Given the description of an element on the screen output the (x, y) to click on. 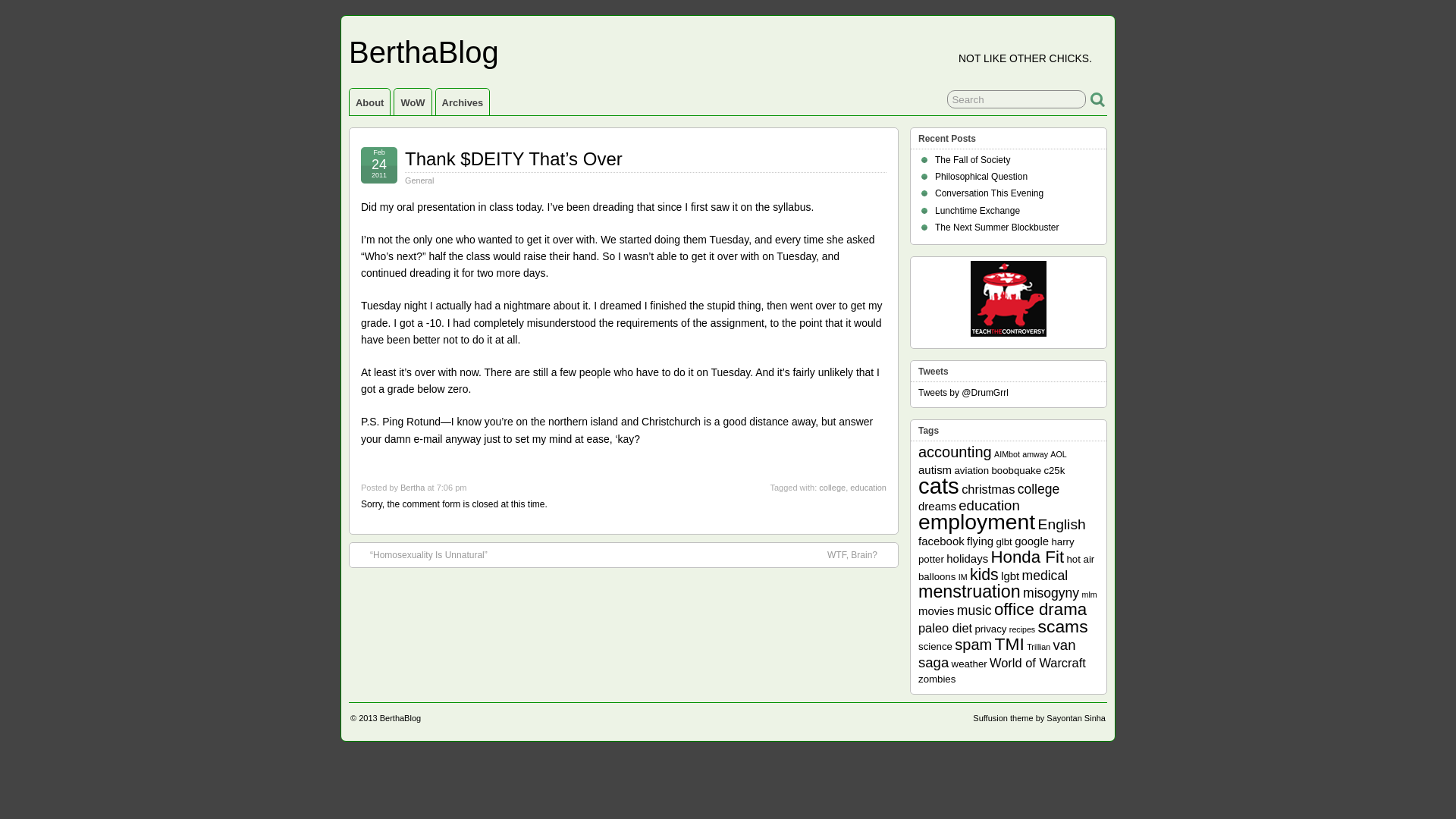
The Fall of Society (972, 159)
accounting (954, 451)
AIMbot (1007, 453)
autism (935, 468)
Honda Fit (1027, 556)
Lunchtime Exchange (977, 210)
employment (976, 521)
flying (979, 540)
college (1038, 488)
christmas (987, 489)
c25k (1053, 469)
amway (1035, 453)
About (369, 101)
English (1062, 524)
dreams (937, 505)
